Given the description of an element on the screen output the (x, y) to click on. 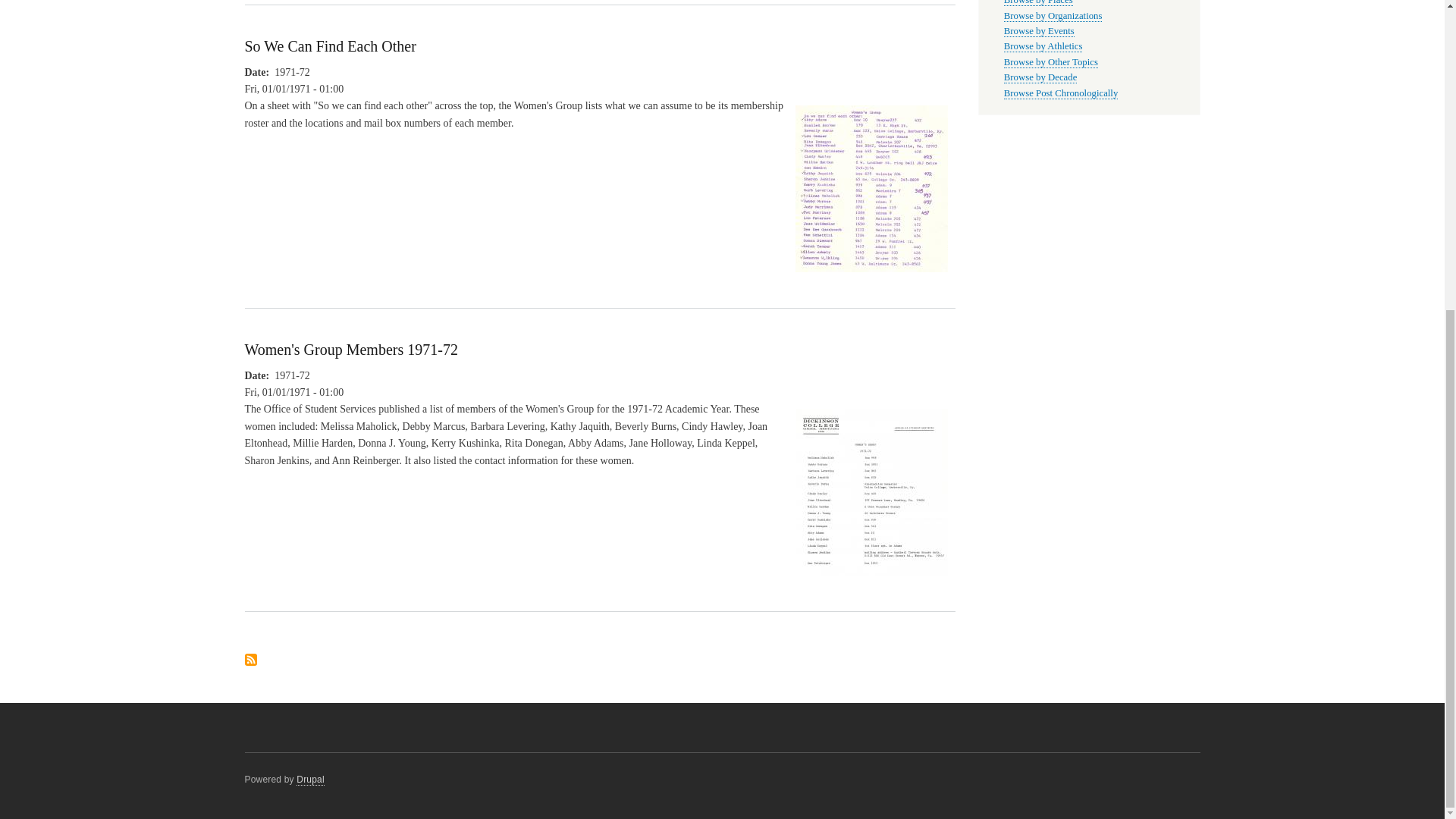
Browse by Events (1039, 30)
Browse by Athletics (1043, 46)
Women's Group Members 1971-72 (350, 349)
Browse Post Chronologically (1061, 93)
Browse by Decade (1040, 77)
Browse by Organizations (1053, 16)
Browse by Places (1038, 2)
Drupal (310, 779)
Women's Group Members 1971-72 (871, 582)
So We Can Find Each Other (329, 45)
